Given the description of an element on the screen output the (x, y) to click on. 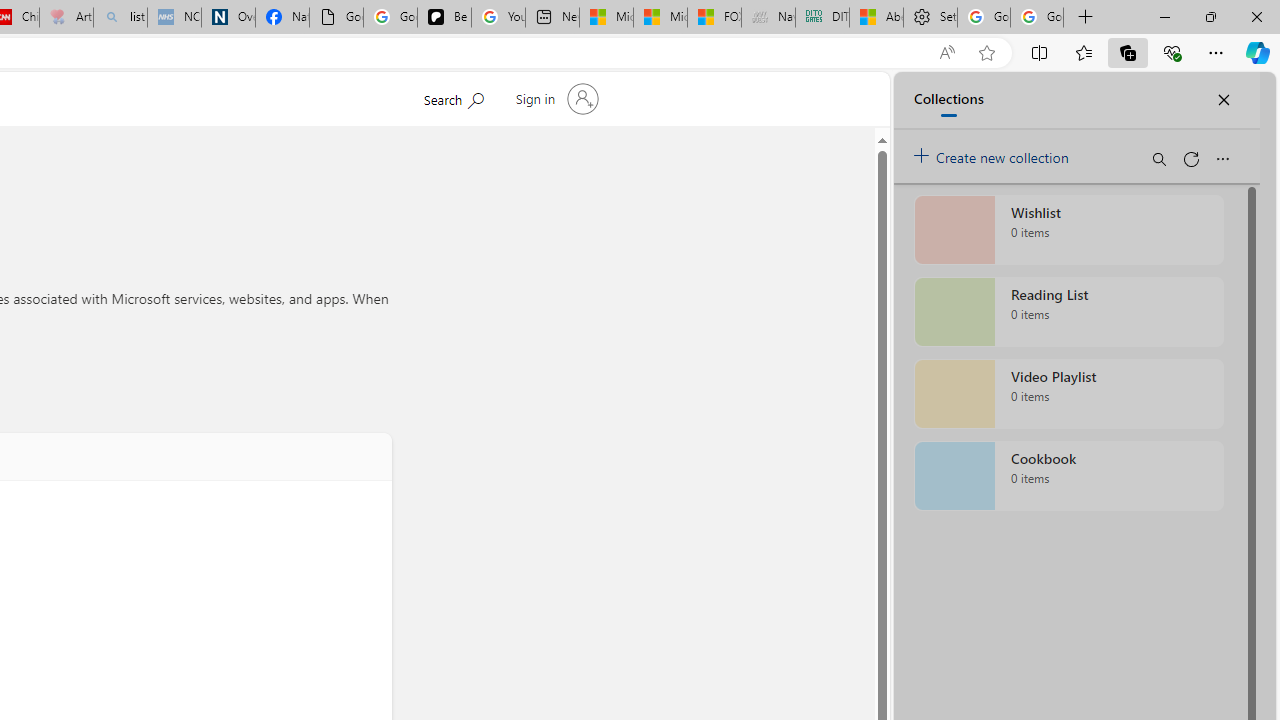
Aberdeen, Hong Kong SAR hourly forecast | Microsoft Weather (875, 17)
Sign in to your account (554, 98)
FOX News - MSN (714, 17)
